Given the description of an element on the screen output the (x, y) to click on. 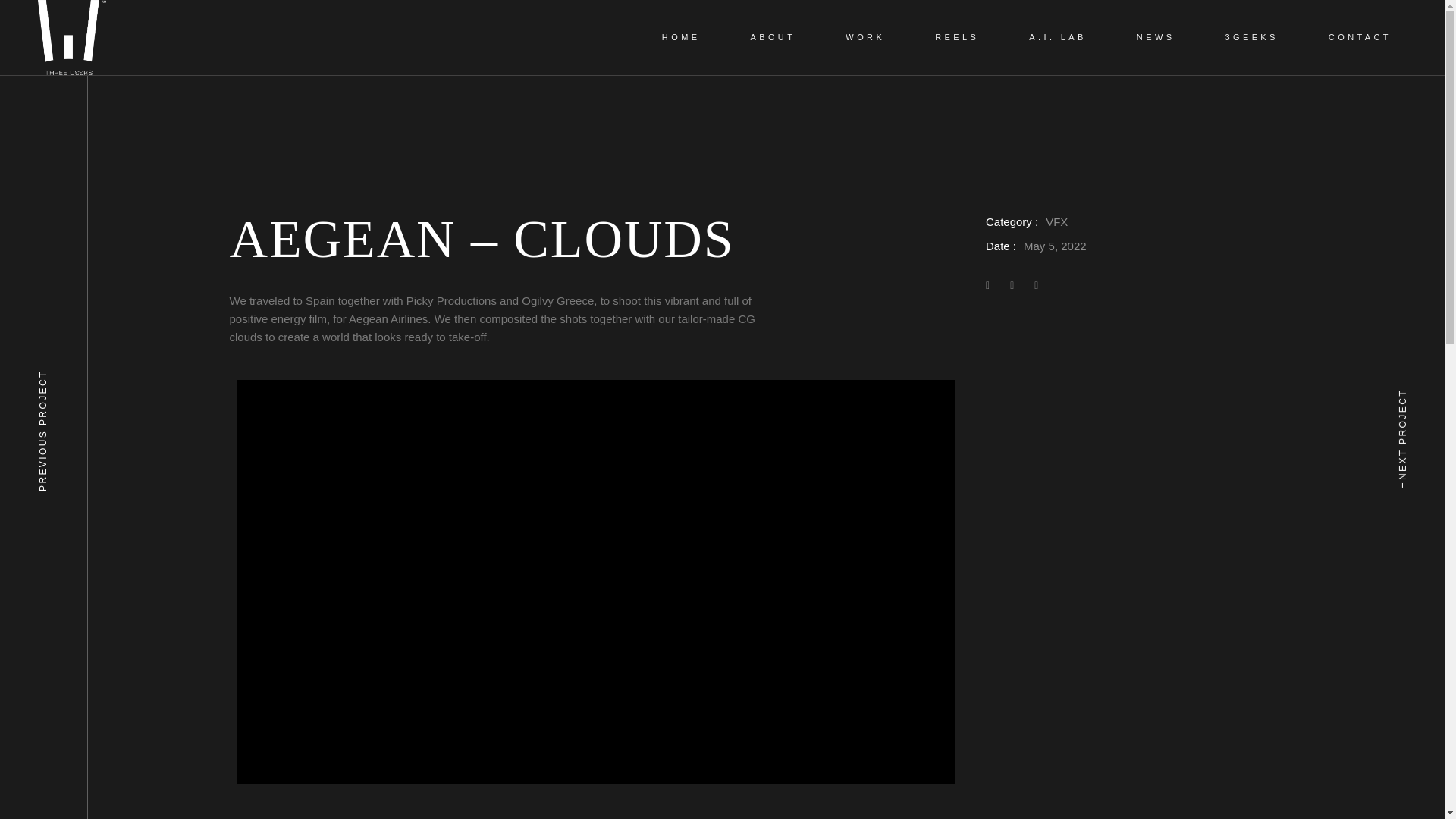
3GEEKS (1258, 37)
CONTACT (1366, 37)
A.I. LAB (1065, 37)
PREVIOUS PROJECT (116, 345)
VFX (1056, 221)
